Given the description of an element on the screen output the (x, y) to click on. 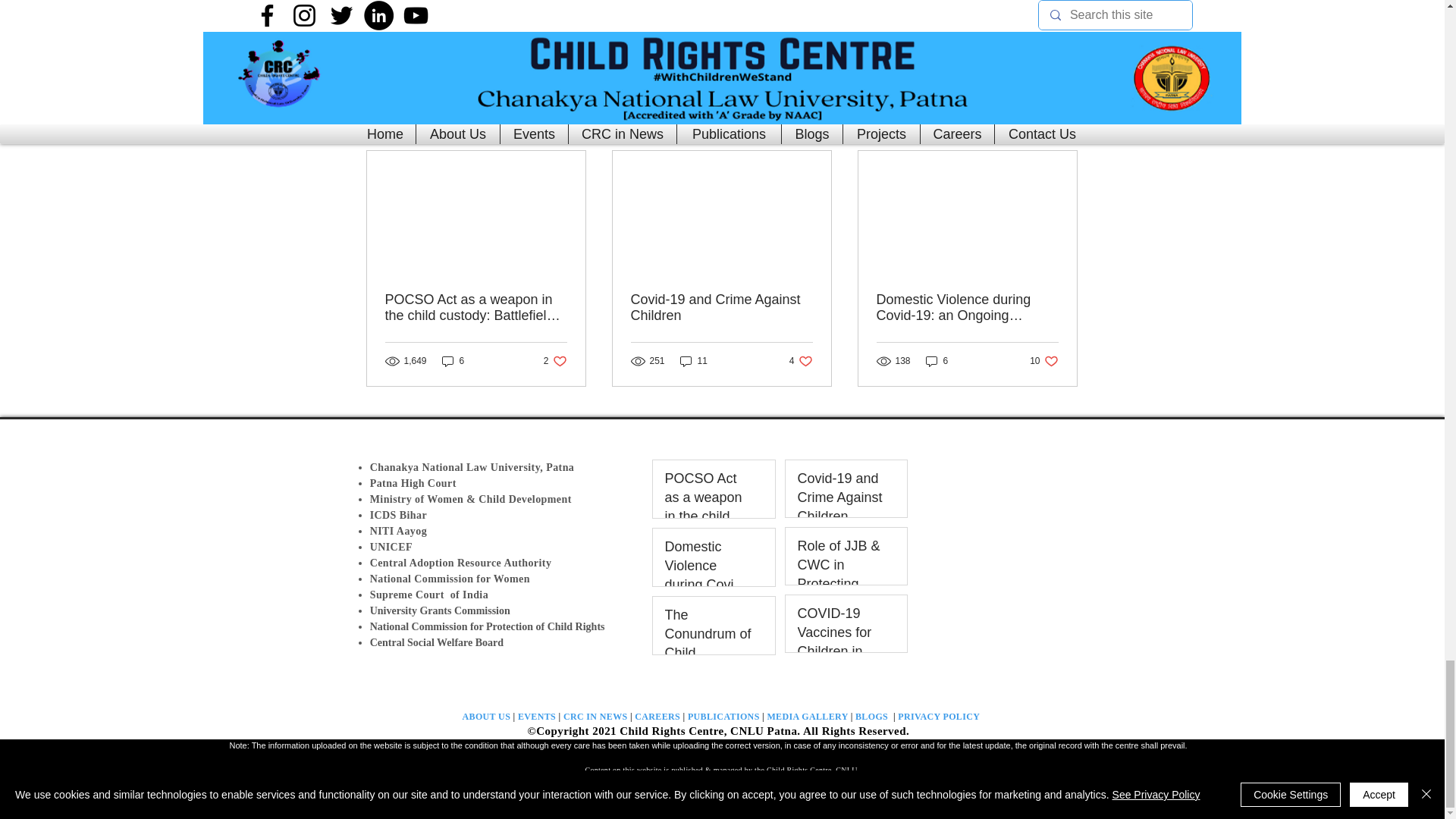
Embedded Content (1075, 531)
